Given the description of an element on the screen output the (x, y) to click on. 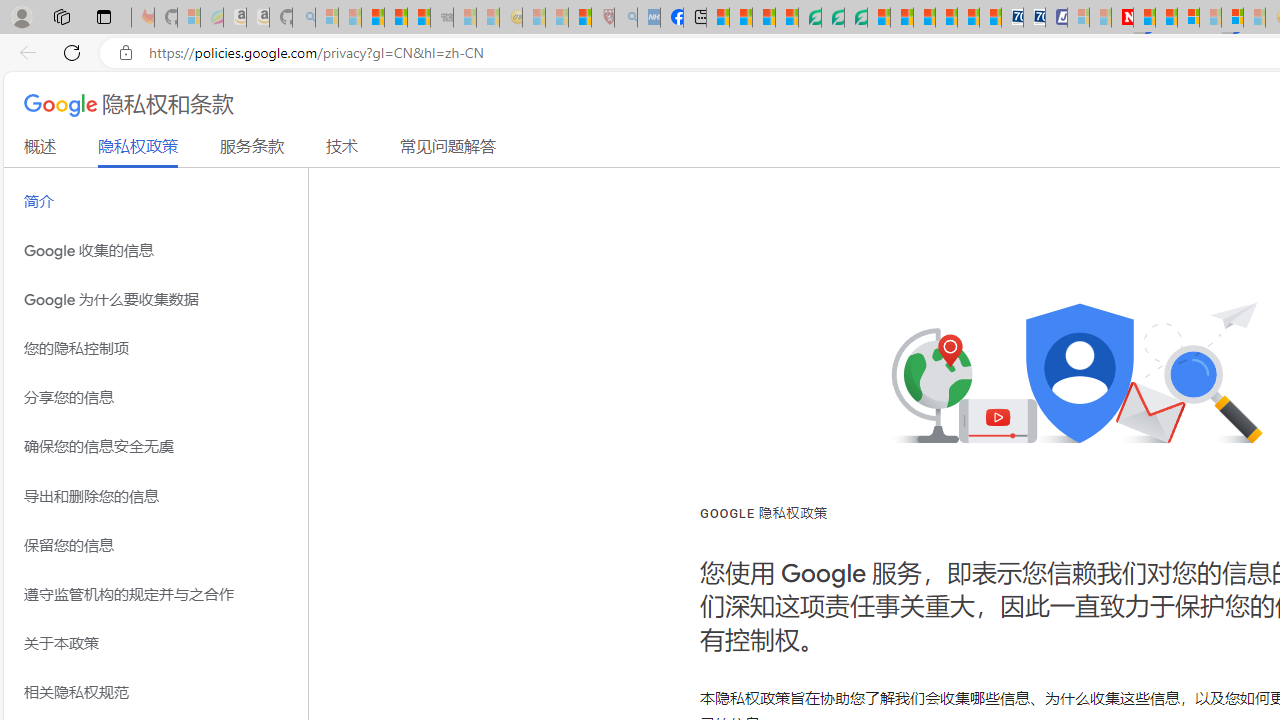
New Report Confirms 2023 Was Record Hot | Watch (419, 17)
